Given the description of an element on the screen output the (x, y) to click on. 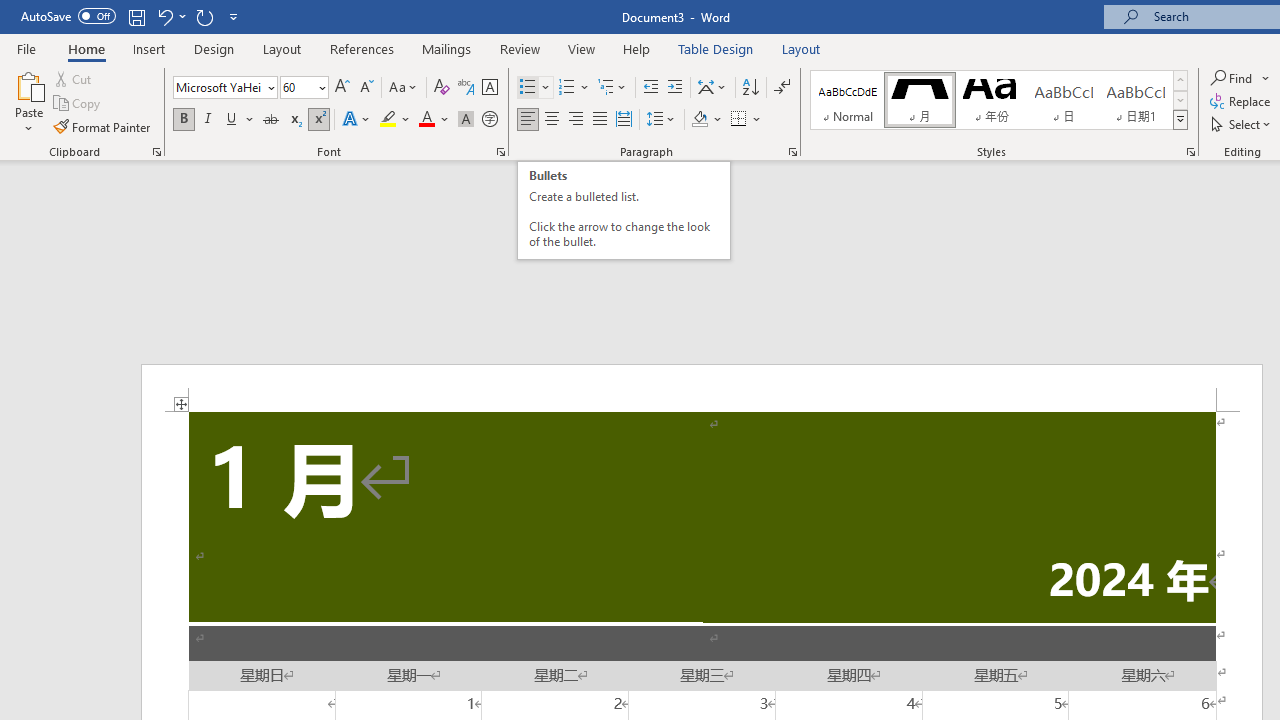
Font... (500, 151)
Design (214, 48)
Font (224, 87)
Paste (28, 84)
Change Case (404, 87)
Shrink Font (365, 87)
Copy (78, 103)
Underline (232, 119)
Office Clipboard... (156, 151)
Customize Quick Access Toolbar (234, 15)
Decrease Indent (650, 87)
Numbering (566, 87)
